Given the description of an element on the screen output the (x, y) to click on. 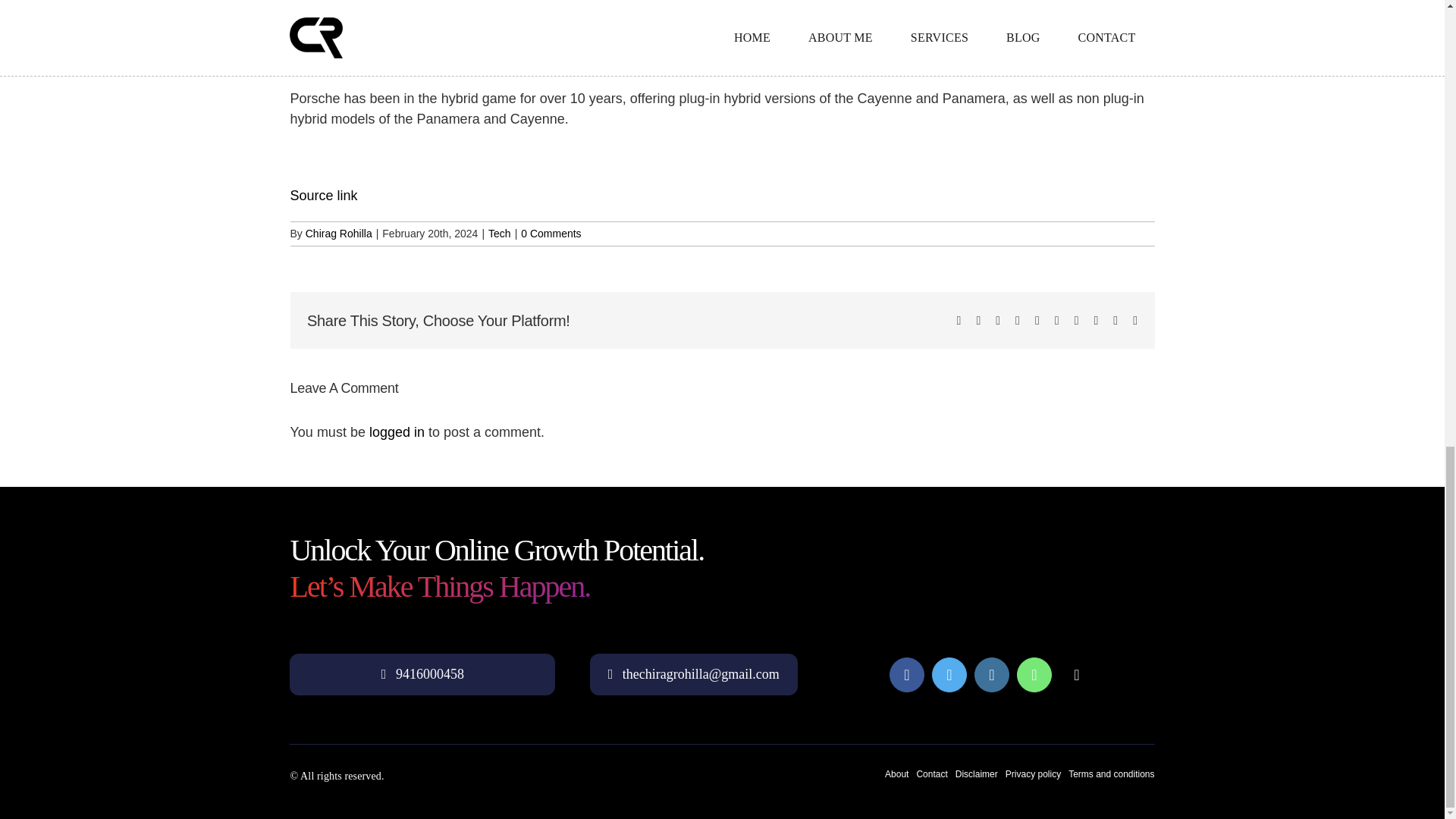
Twitter (948, 674)
WhatsApp (1033, 674)
Source link (322, 195)
Phone (1076, 674)
Facebook (906, 674)
logged in (397, 432)
refreshed Taycan (838, 42)
Tech (499, 233)
9416000458 (421, 674)
Chirag Rohilla (338, 233)
Posts by Chirag Rohilla (338, 233)
About (896, 774)
0 Comments (550, 233)
all-electric Macan (690, 42)
Instagram (991, 674)
